Given the description of an element on the screen output the (x, y) to click on. 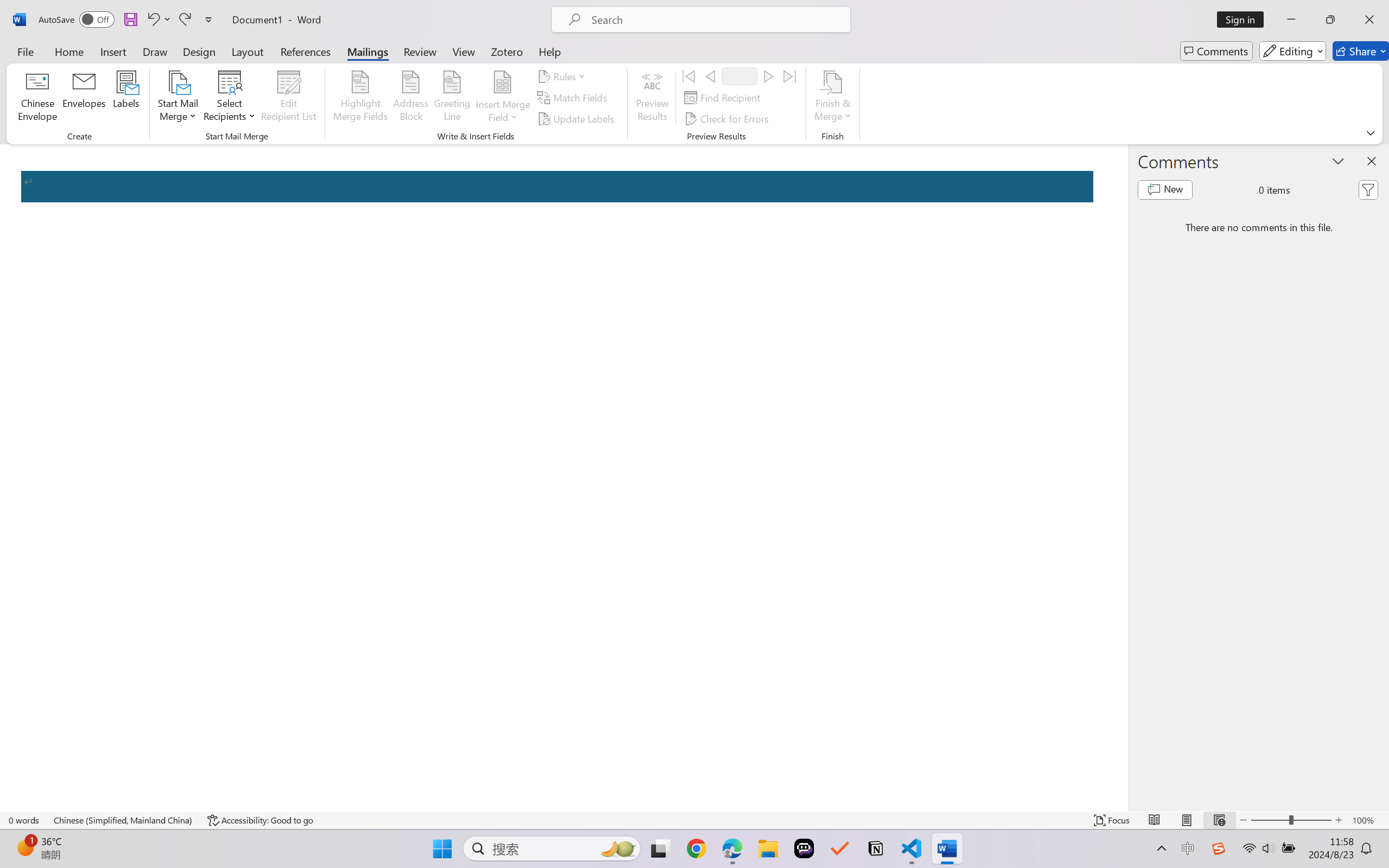
New comment (1165, 189)
Find Recipient... (723, 97)
Start Mail Merge (177, 97)
Editing (1292, 50)
First (688, 75)
Finish & Merge (832, 97)
Language Chinese (Simplified, Mainland China) (123, 819)
